Given the description of an element on the screen output the (x, y) to click on. 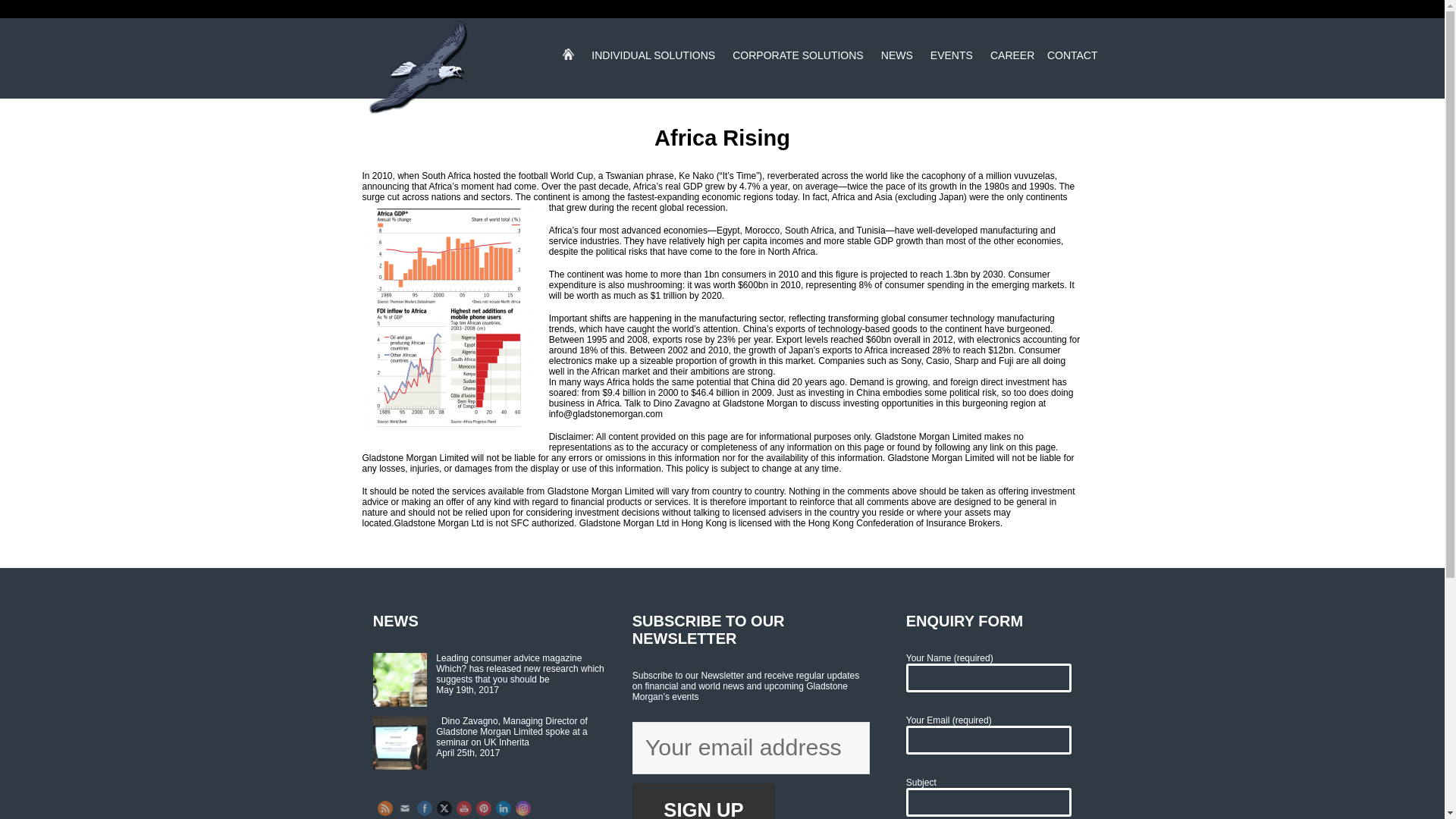
CAREER (1012, 64)
NEWS (897, 64)
EVENTS (951, 64)
Sign up (702, 800)
CORPORATE SOLUTIONS (797, 64)
Facebook (424, 807)
CONTACT (1072, 64)
YouTube (463, 807)
Pinterest (483, 807)
INDIVIDUAL SOLUTIONS (653, 64)
